Given the description of an element on the screen output the (x, y) to click on. 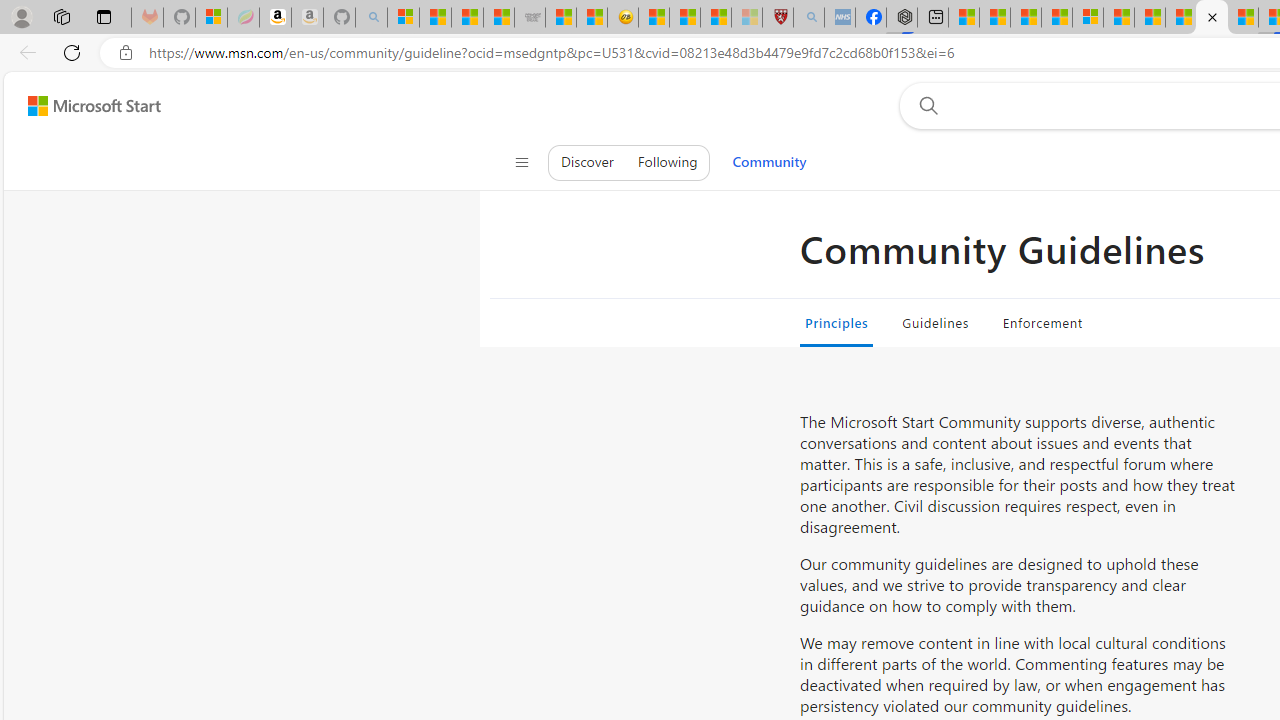
Microsoft-Report a Concern to Bing (210, 17)
14 Common Myths Debunked By Scientific Facts (1180, 17)
Skip to content (86, 105)
Community (768, 161)
Following (667, 162)
Skip to footer (82, 105)
Close tab (1212, 16)
Refresh (72, 52)
